Given the description of an element on the screen output the (x, y) to click on. 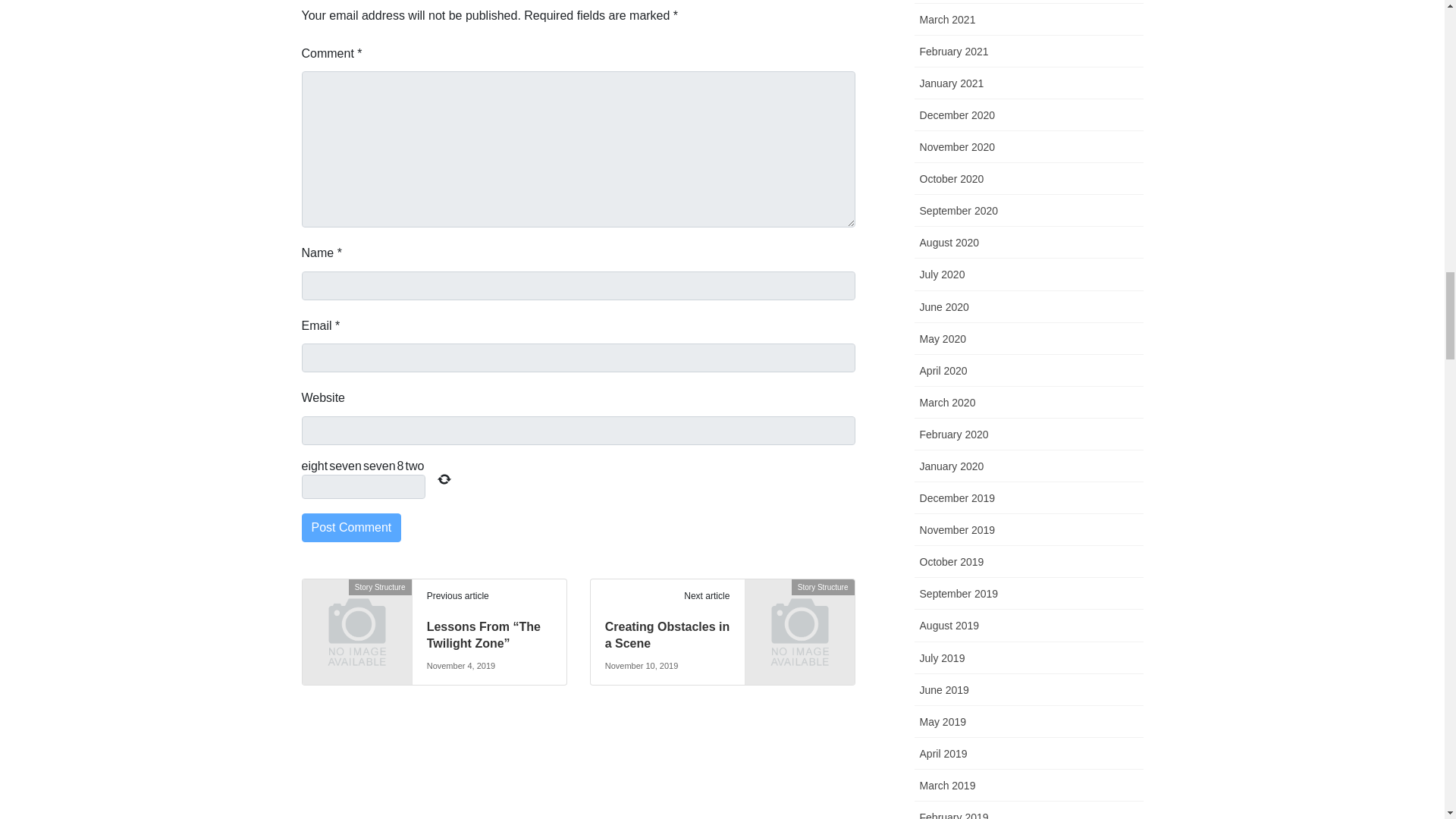
Story Structure (355, 612)
Post Comment (351, 527)
Post Comment (351, 527)
Creating Obstacles in a Scene (667, 634)
Story Structure (798, 612)
